Given the description of an element on the screen output the (x, y) to click on. 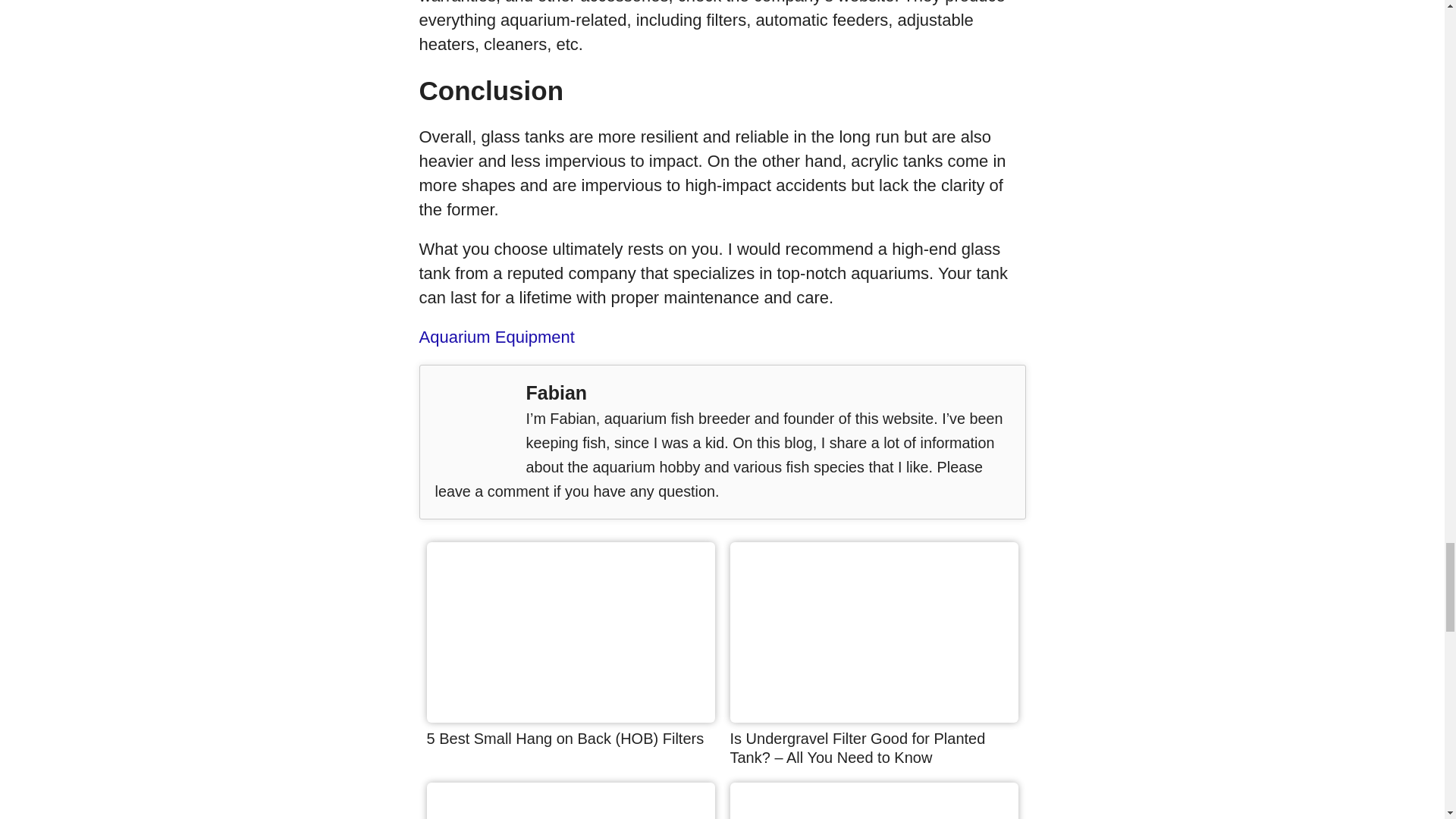
Aquarium Equipment (496, 336)
